Given the description of an element on the screen output the (x, y) to click on. 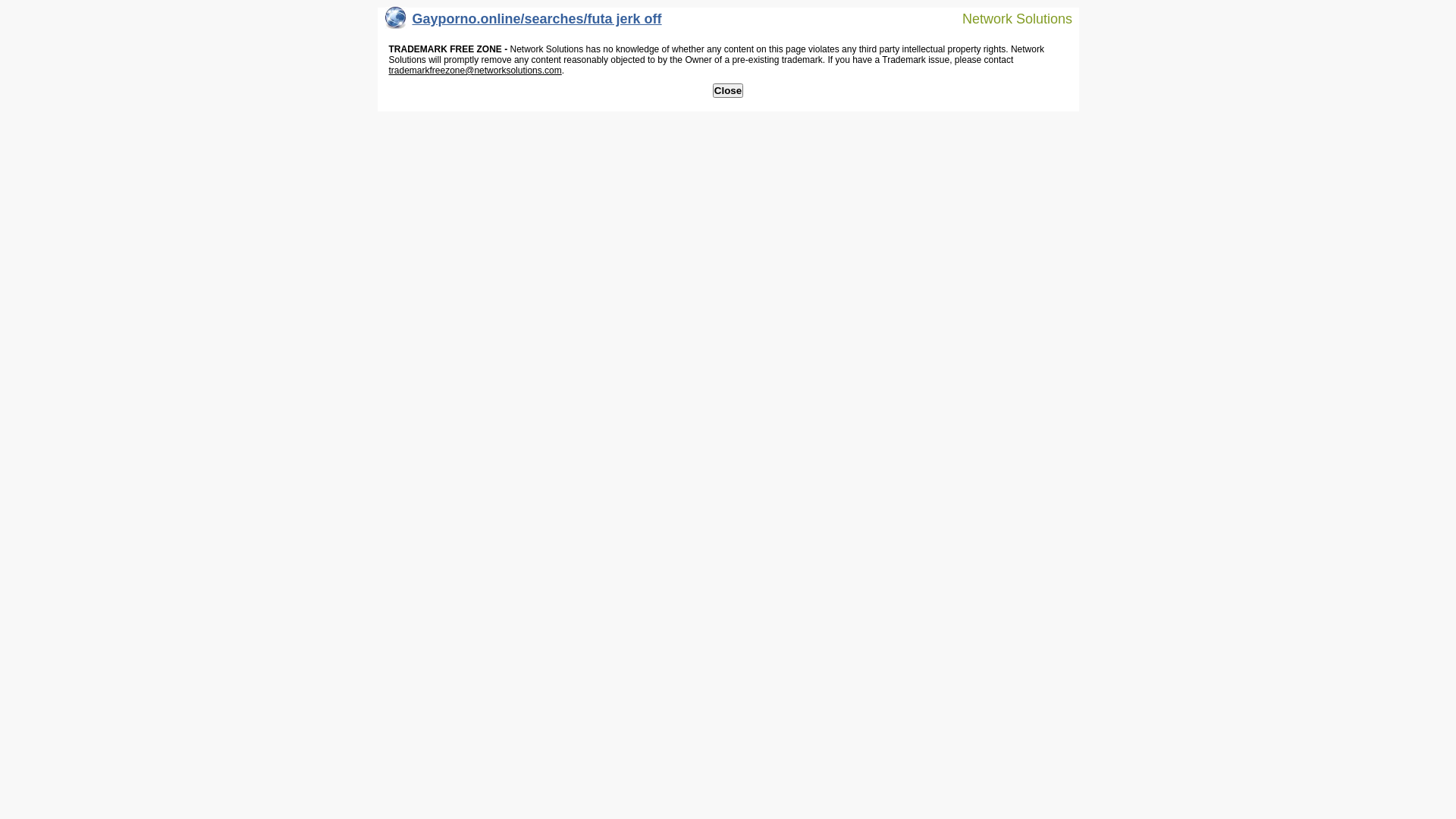
Network Solutions Element type: text (1007, 17)
trademarkfreezone@networksolutions.com Element type: text (474, 70)
Close Element type: text (727, 90)
Gayporno.online/searches/futa jerk off Element type: text (523, 21)
